Given the description of an element on the screen output the (x, y) to click on. 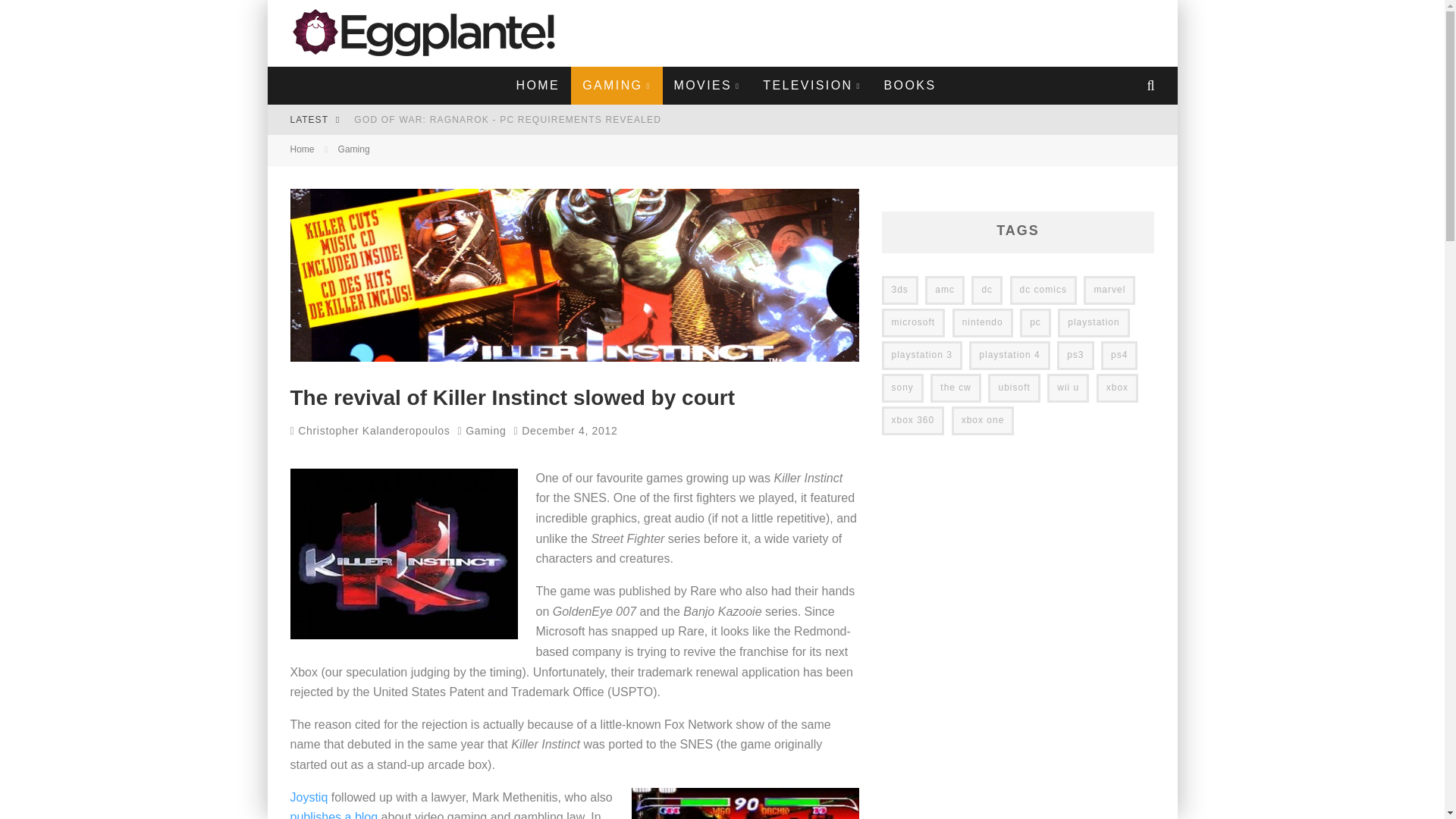
God of War: Ragnarok - PC requirements revealed (507, 119)
TELEVISION (811, 85)
HOME (538, 85)
GAMING (616, 85)
MOVIES (707, 85)
